Given the description of an element on the screen output the (x, y) to click on. 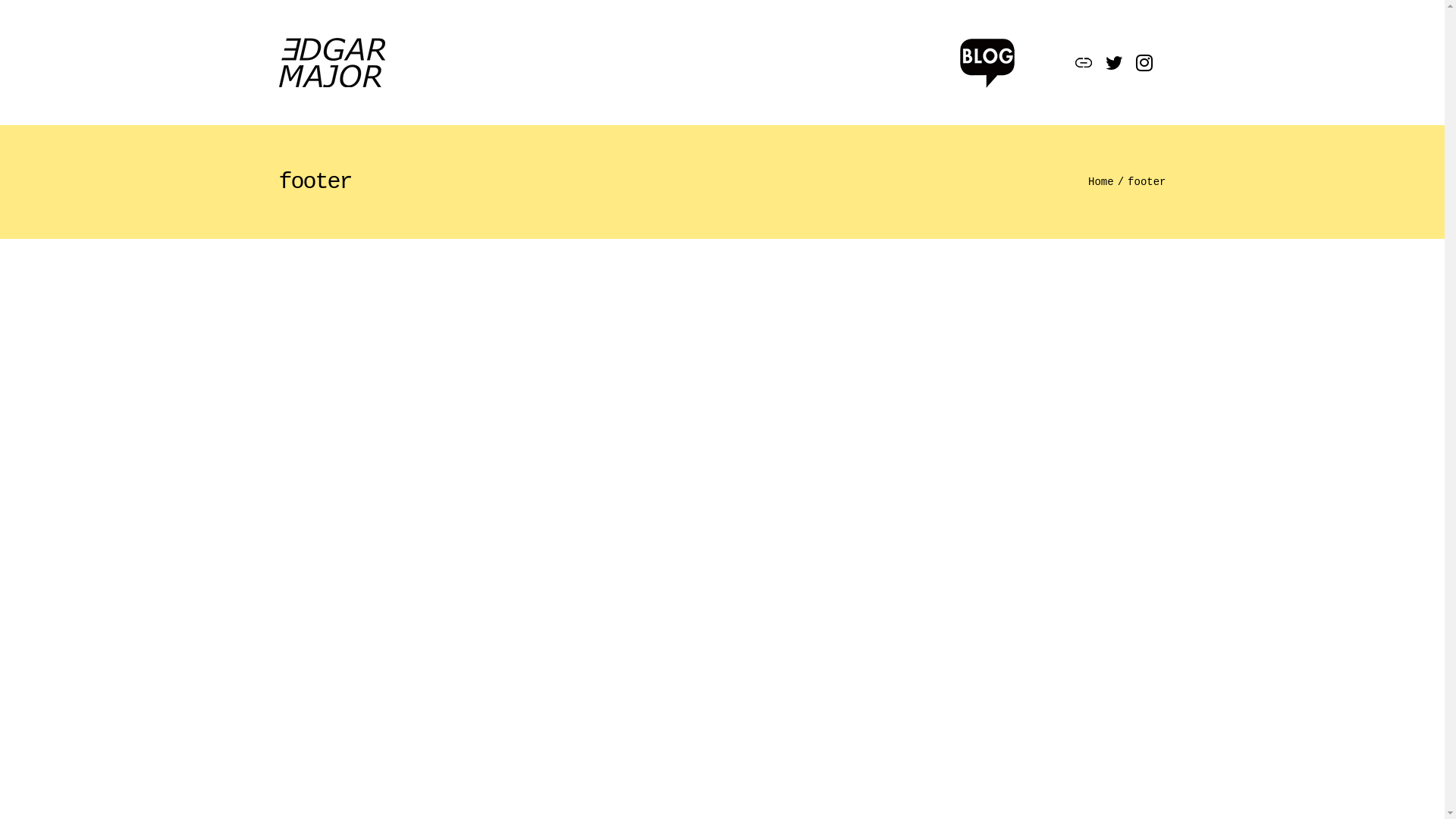
Rarible Element type: hover (1083, 62)
Home Element type: text (1100, 181)
